Given the description of an element on the screen output the (x, y) to click on. 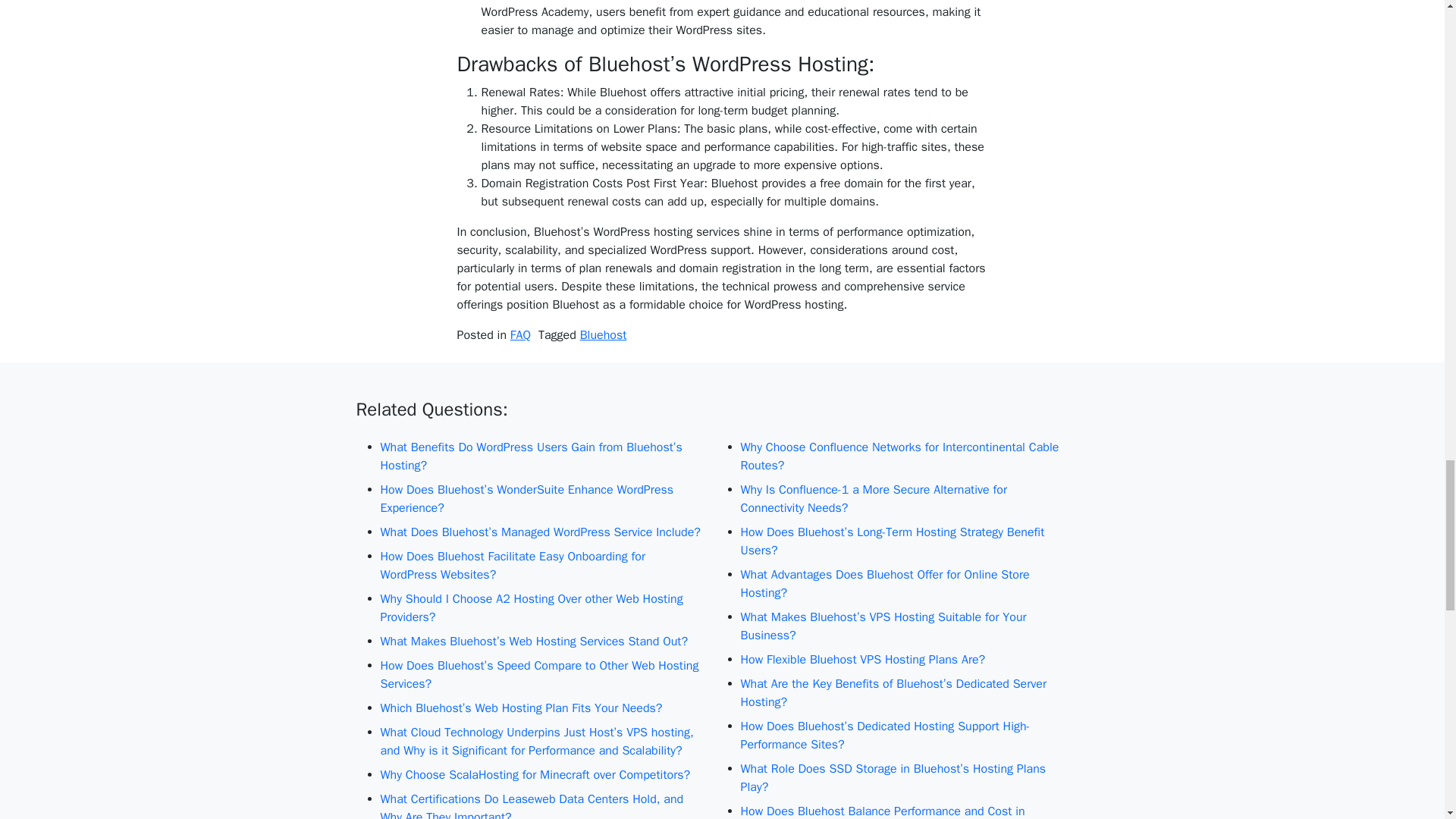
Why Choose ScalaHosting for Minecraft over Competitors? (542, 774)
How Flexible Bluehost VPS Hosting Plans Are? (901, 659)
FAQ (521, 335)
Bluehost (603, 335)
